Given the description of an element on the screen output the (x, y) to click on. 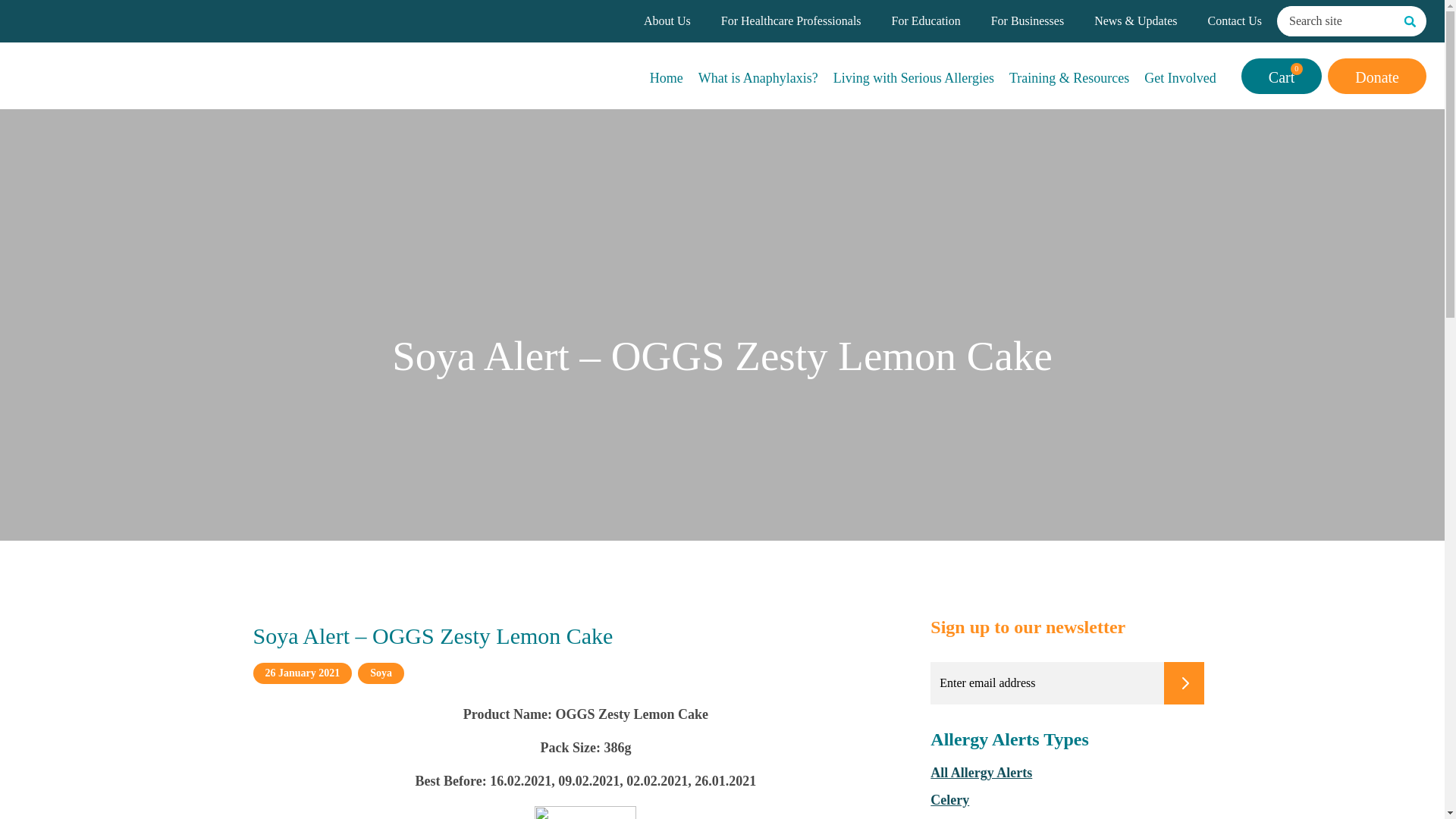
What is Anaphylaxis? (758, 75)
Contact Us (1234, 21)
For Education (925, 21)
Living with Serious Allergies (913, 75)
About Us (666, 21)
For Healthcare Professionals (790, 21)
Home (665, 75)
For Businesses (1027, 21)
